Given the description of an element on the screen output the (x, y) to click on. 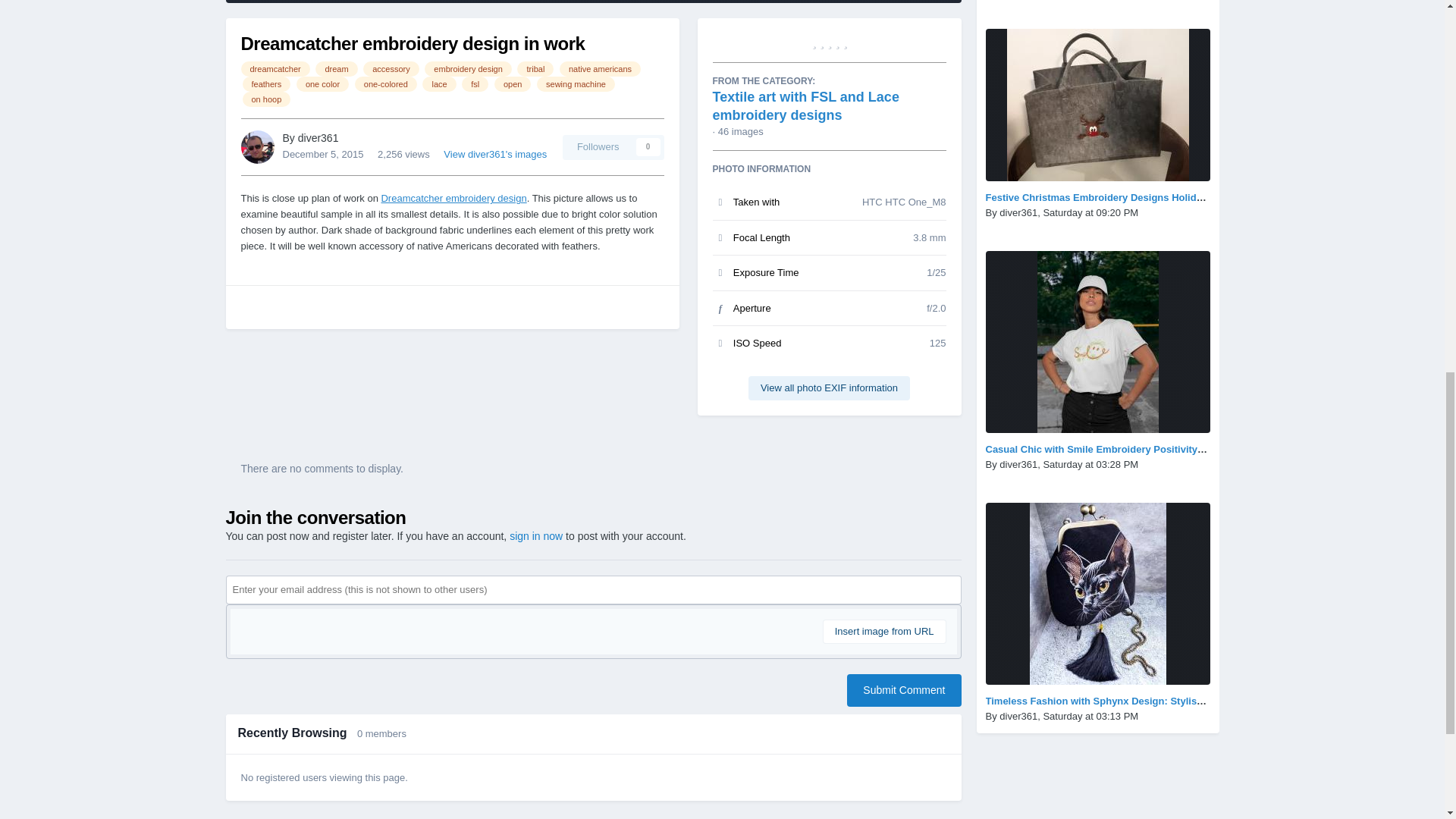
Find other content tagged with 'accessory' (390, 68)
Find other content tagged with 'tribal' (534, 68)
Find other content tagged with 'embroidery design' (468, 68)
Find other content tagged with 'dream' (335, 68)
Find other content tagged with 'dreamcatcher' (275, 68)
